Given the description of an element on the screen output the (x, y) to click on. 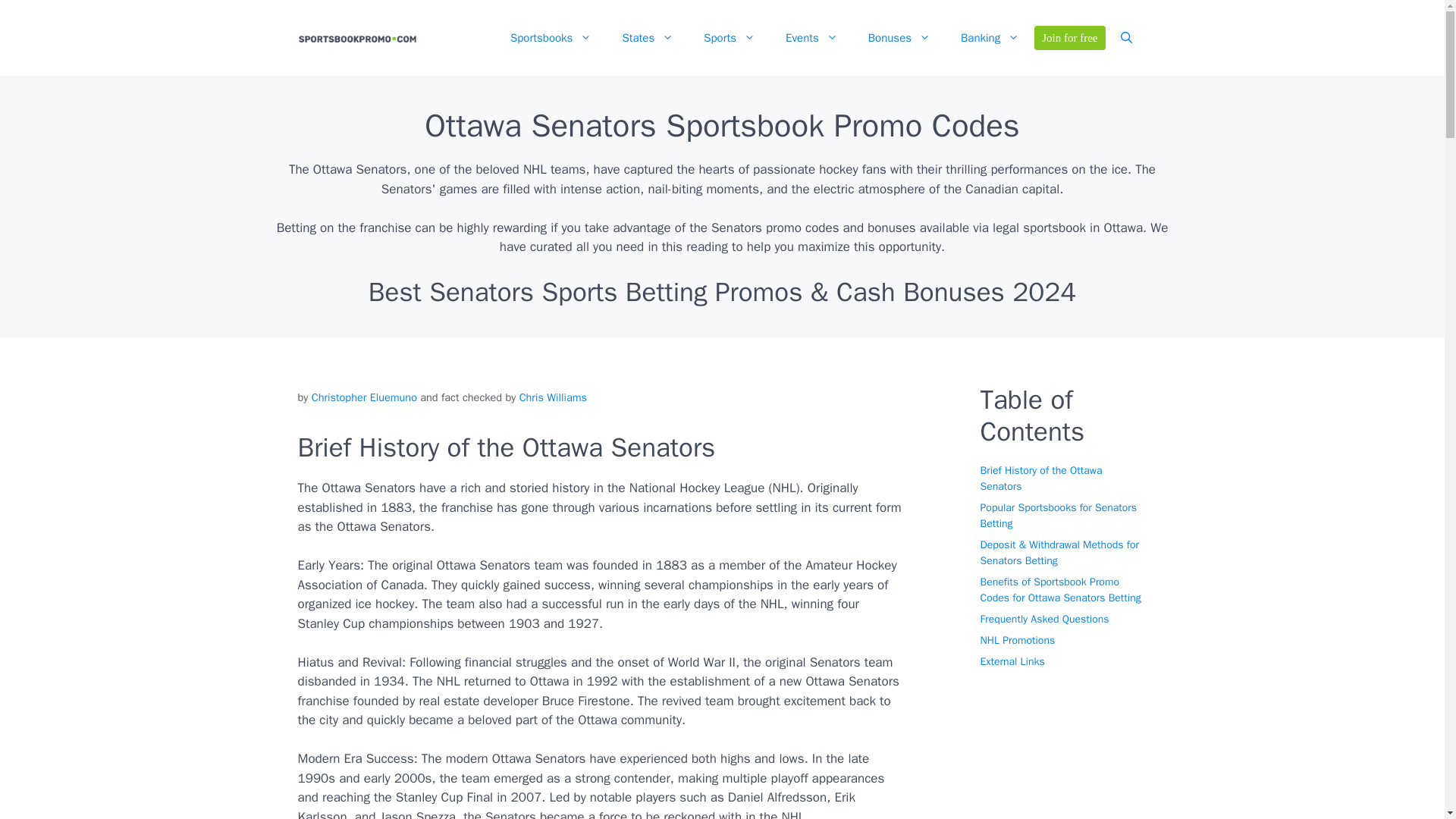
View all posts by Christopher Eluemuno (363, 397)
States (647, 37)
Sportsbooks (551, 37)
View all posts by Chris Williams (552, 397)
